Given the description of an element on the screen output the (x, y) to click on. 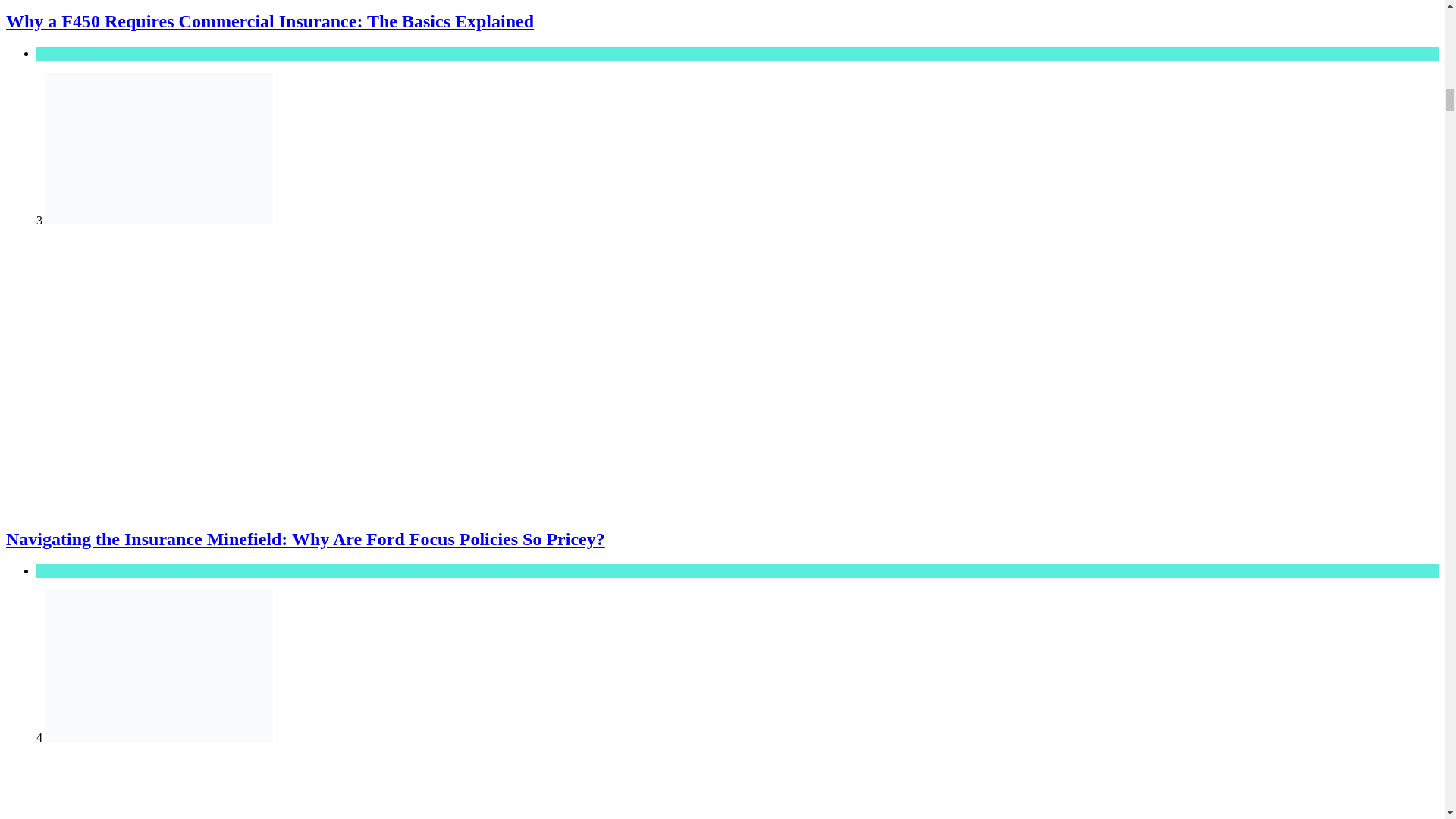
Automotive (65, 570)
Automotive (65, 52)
